Given the description of an element on the screen output the (x, y) to click on. 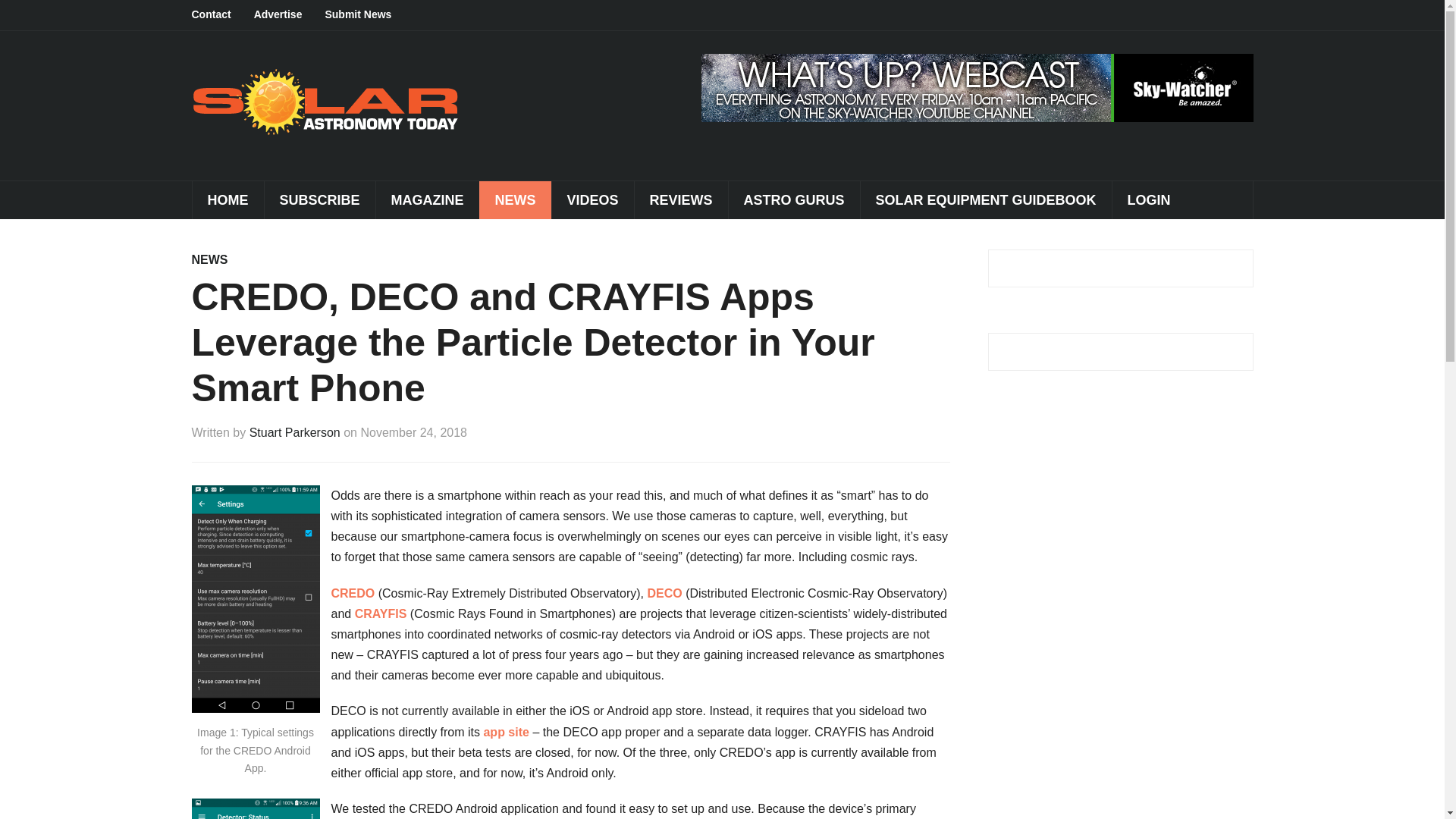
CRAYFIS (381, 613)
VIDEOS (592, 200)
NEWS (208, 259)
Advertise (288, 15)
MAGAZINE (427, 200)
Submit News (368, 15)
ASTRO GURUS (794, 200)
SOLAR EQUIPMENT GUIDEBOOK (986, 200)
app site (505, 731)
NEWS (515, 200)
Contact (221, 15)
HOME (226, 200)
CREDO (352, 593)
SUBSCRIBE (319, 200)
Stuart Parkerson (294, 431)
